Given the description of an element on the screen output the (x, y) to click on. 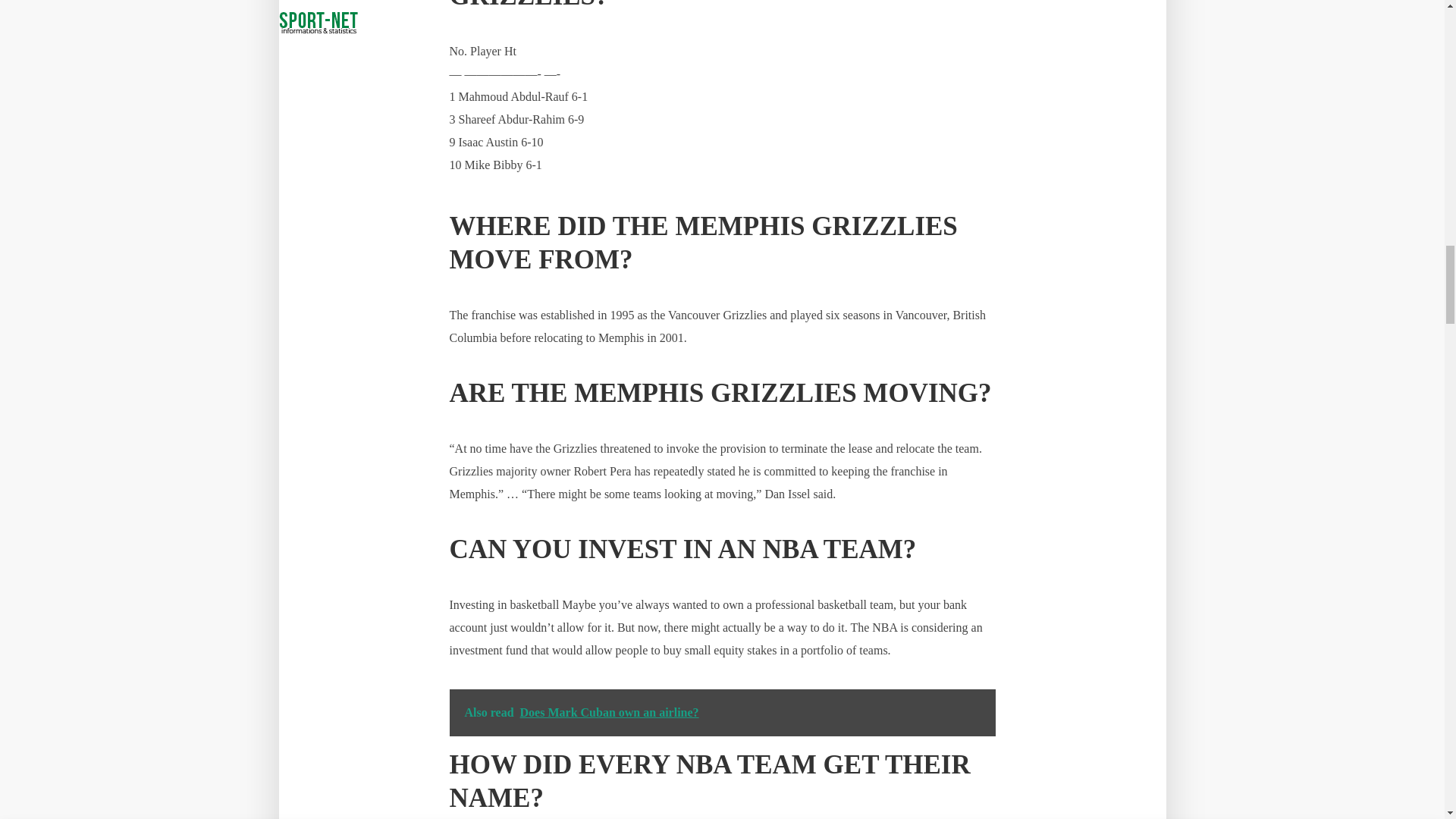
Also read  Does Mark Cuban own an airline? (721, 712)
